Given the description of an element on the screen output the (x, y) to click on. 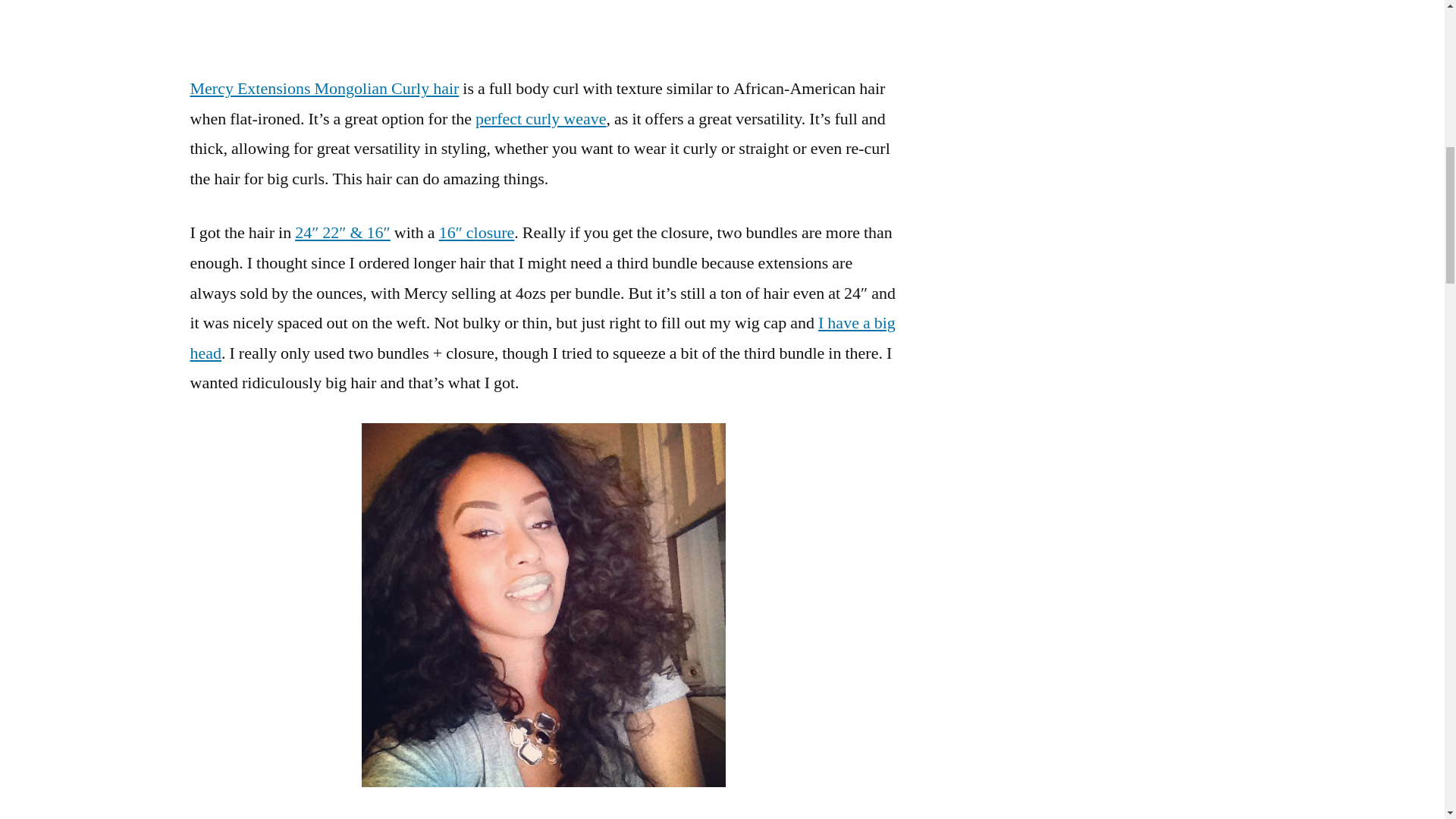
The Best Weaves for Big Curly Hair (540, 118)
I have a big head (542, 337)
perfect curly weave (540, 118)
Mercy Extensions Mongolian Curly hair (323, 88)
